Given the description of an element on the screen output the (x, y) to click on. 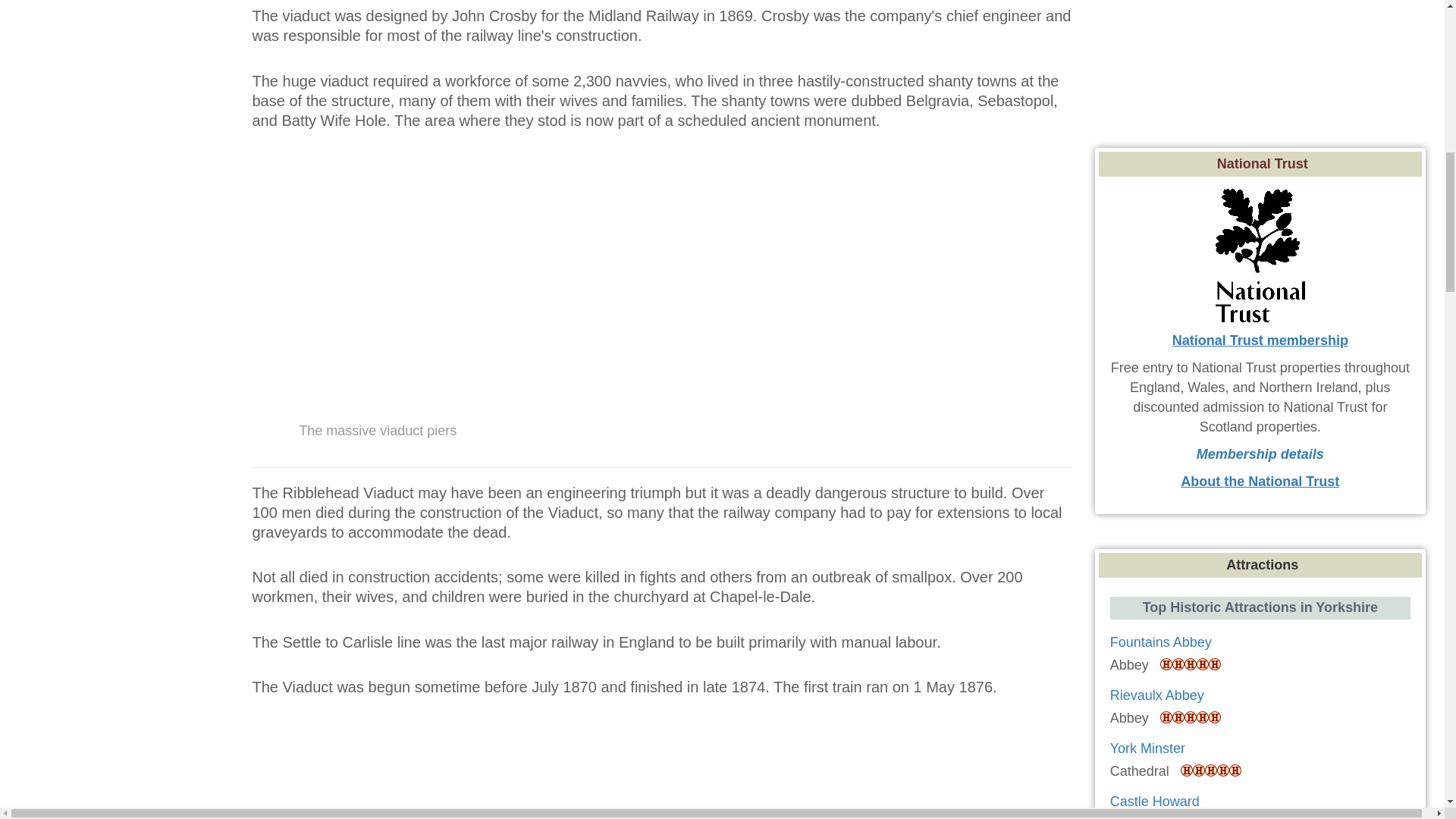
Advertisement (1263, 70)
